Given the description of an element on the screen output the (x, y) to click on. 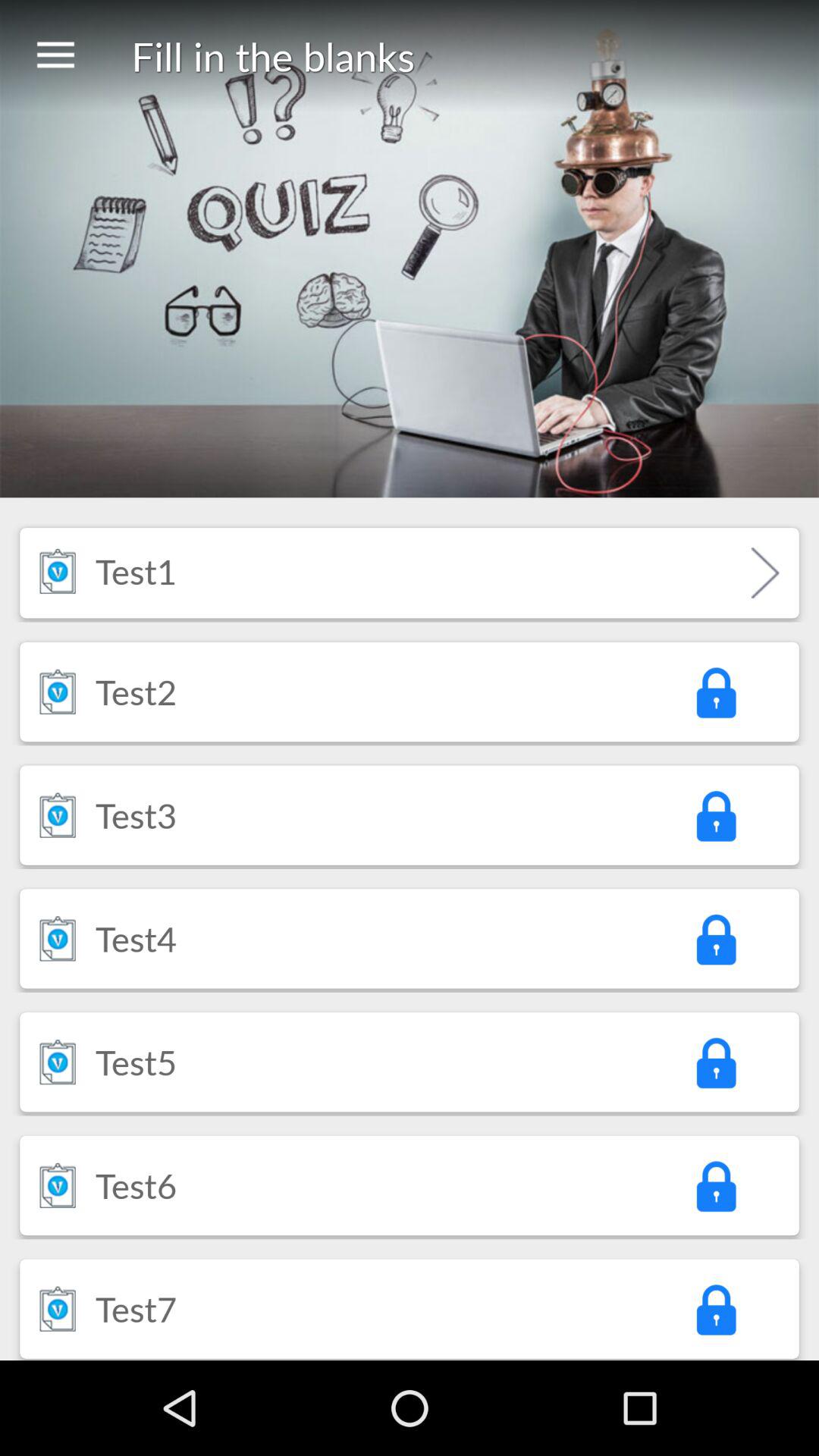
press the icon to the right of the test4 (715, 938)
